Given the description of an element on the screen output the (x, y) to click on. 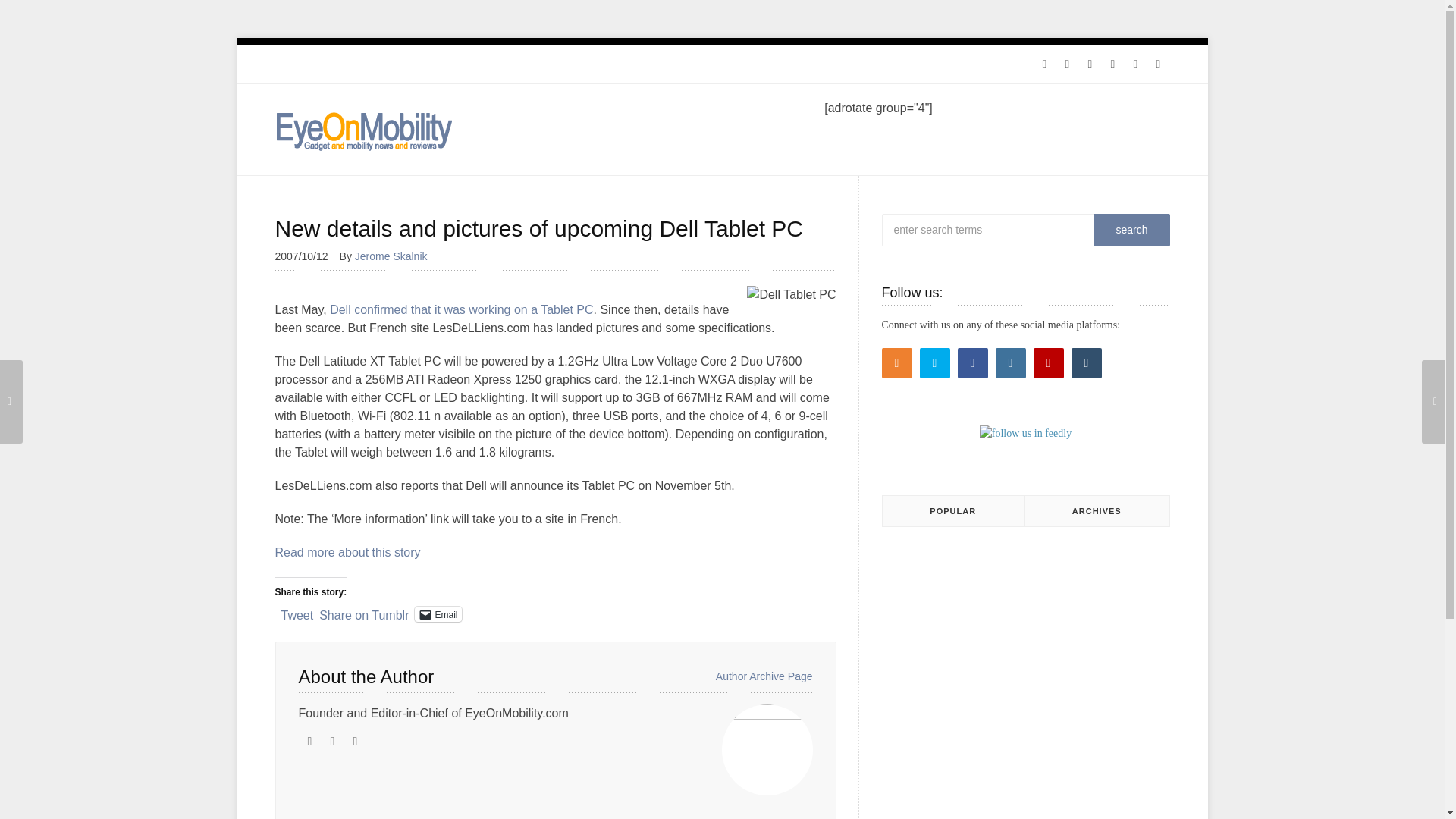
Search (1131, 229)
Jerome Skalnik's Website (309, 741)
Reviews (346, 64)
Dell confirmed that it was working on a Tablet PC (461, 309)
Enter Search Terms (1017, 229)
Facebook (1089, 64)
Youtube (1135, 64)
Author Archive Page (764, 676)
ARCHIVES (1097, 511)
Click to email a link to a friend (437, 613)
RSS Feed (1043, 64)
Search (1131, 229)
Share on Tumblr (363, 612)
Email (437, 613)
About Us (453, 64)
